Given the description of an element on the screen output the (x, y) to click on. 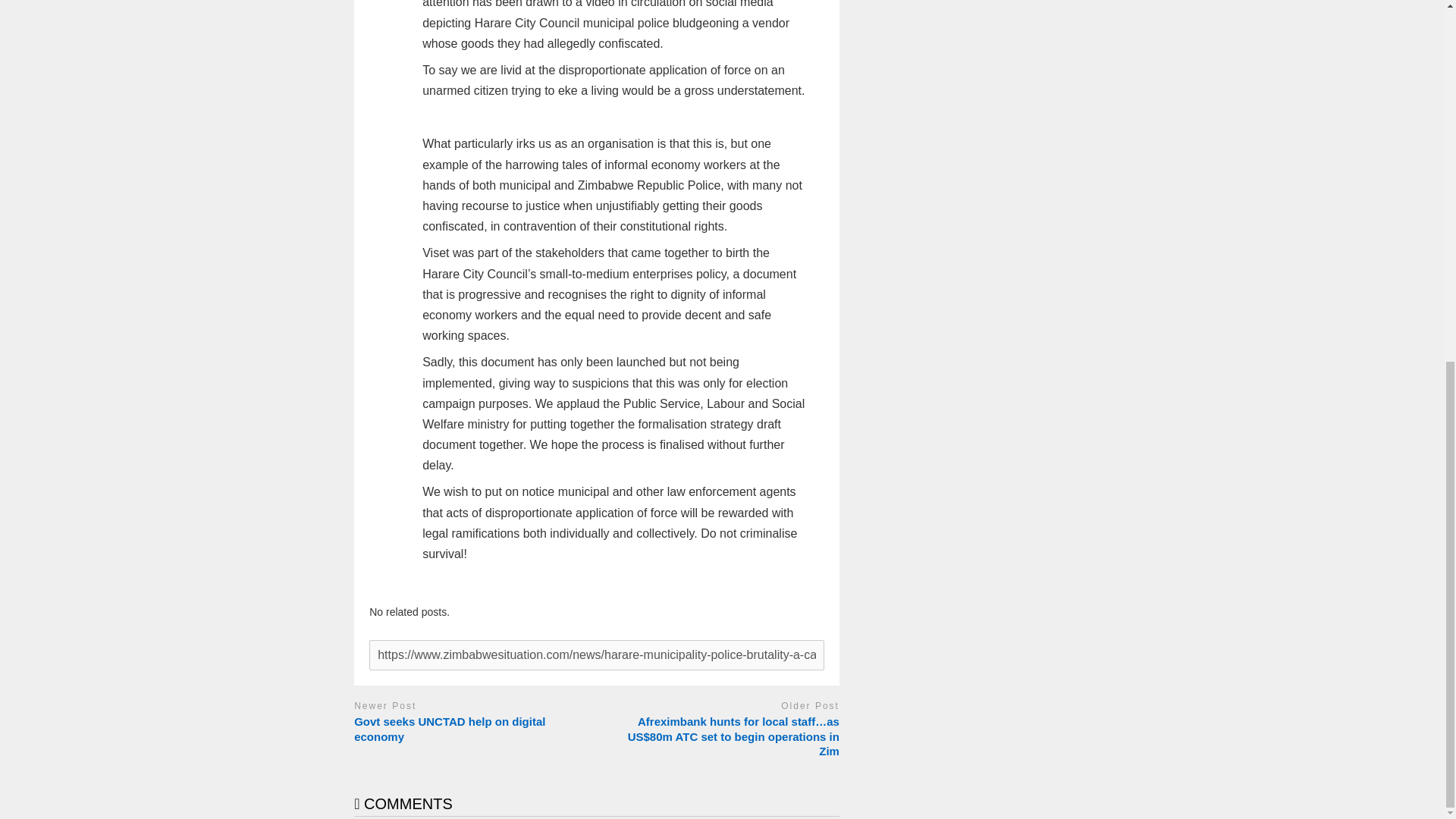
Govt seeks UNCTAD help on digital economy (471, 728)
